Given the description of an element on the screen output the (x, y) to click on. 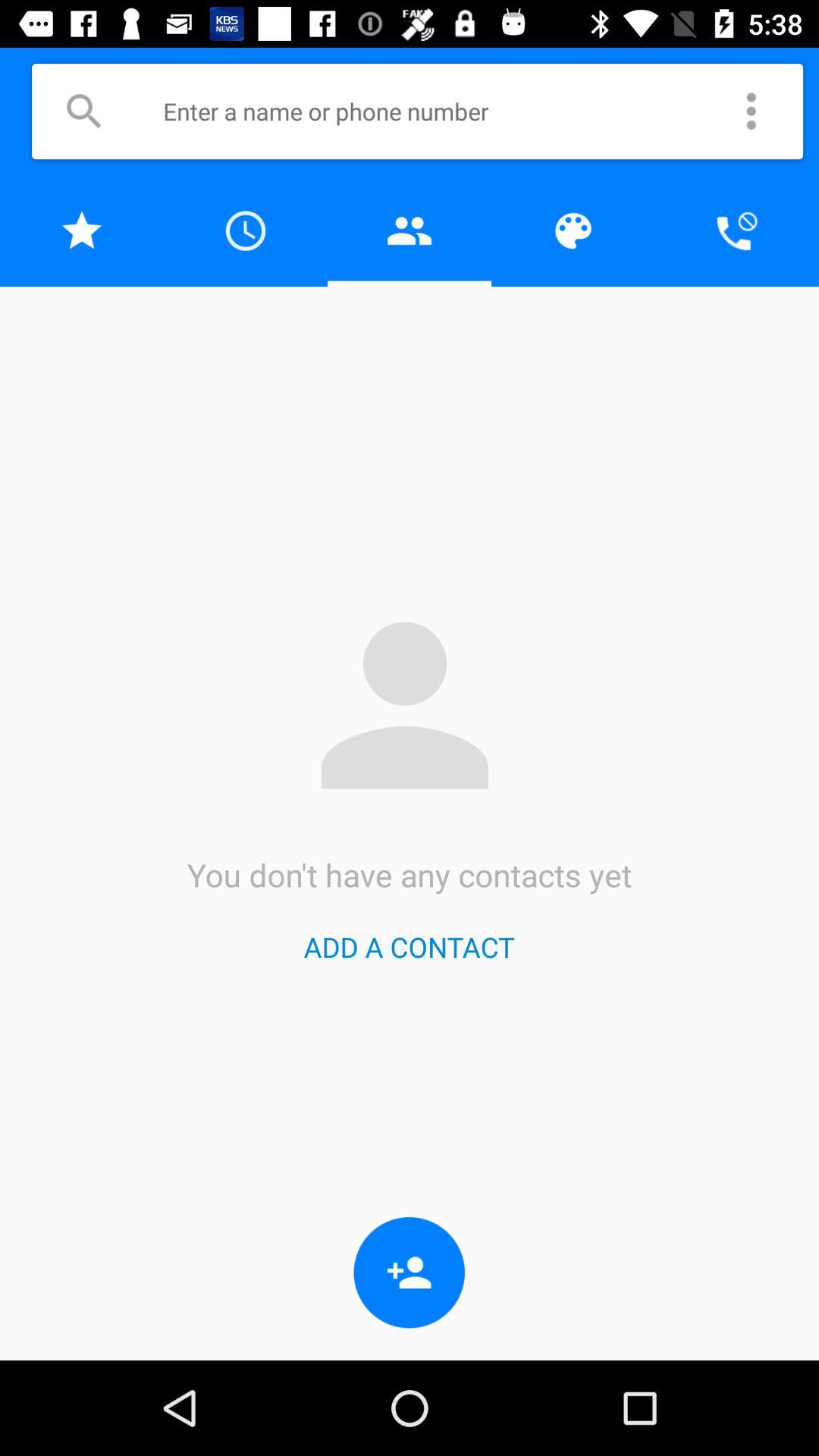
make a call (737, 230)
